Given the description of an element on the screen output the (x, y) to click on. 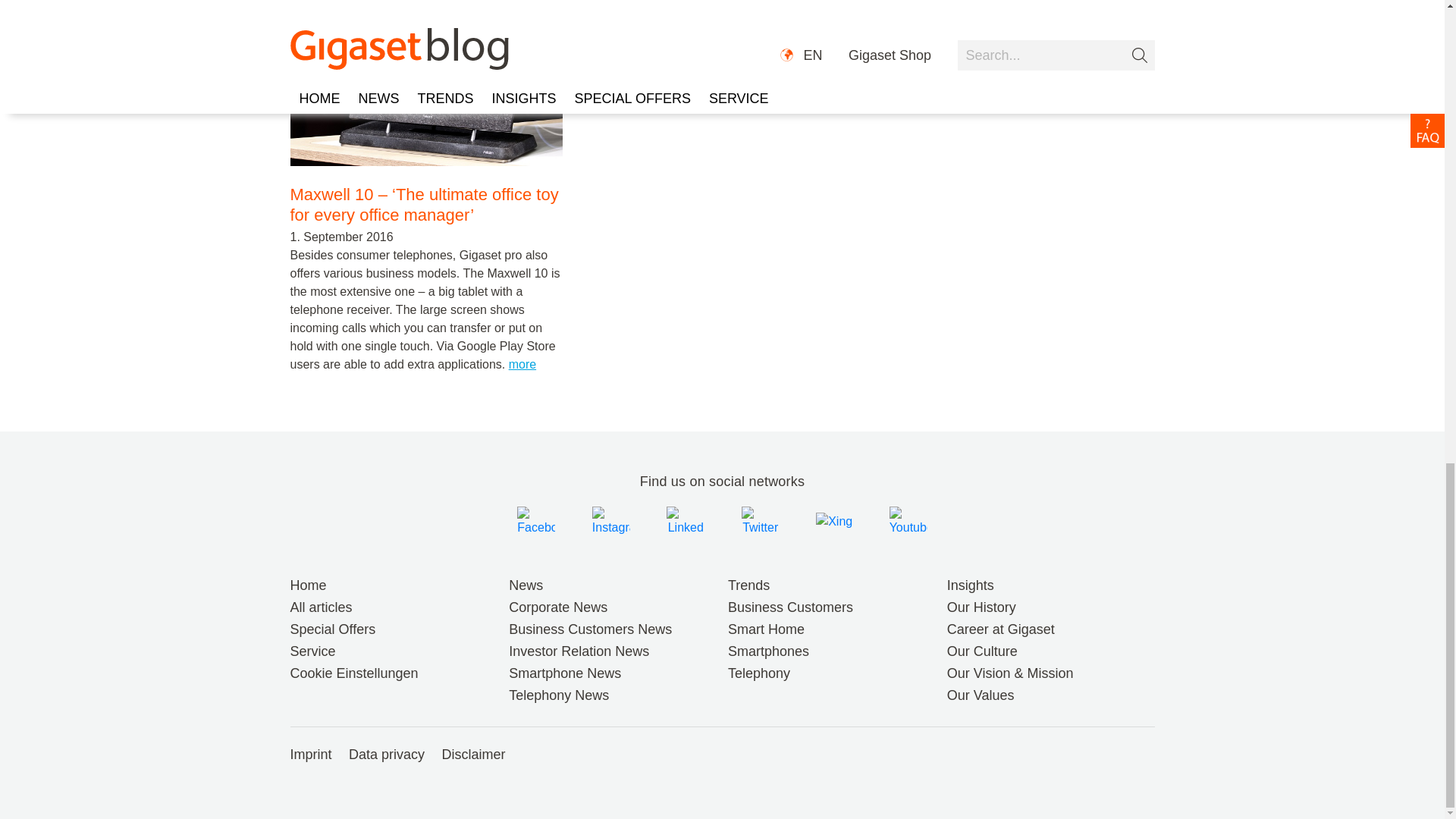
Linked (685, 521)
Facebook (535, 521)
Twitter (759, 521)
Facebook (537, 520)
Twitter (762, 520)
Instagram (612, 520)
Instagram (611, 521)
Linked (686, 520)
